Given the description of an element on the screen output the (x, y) to click on. 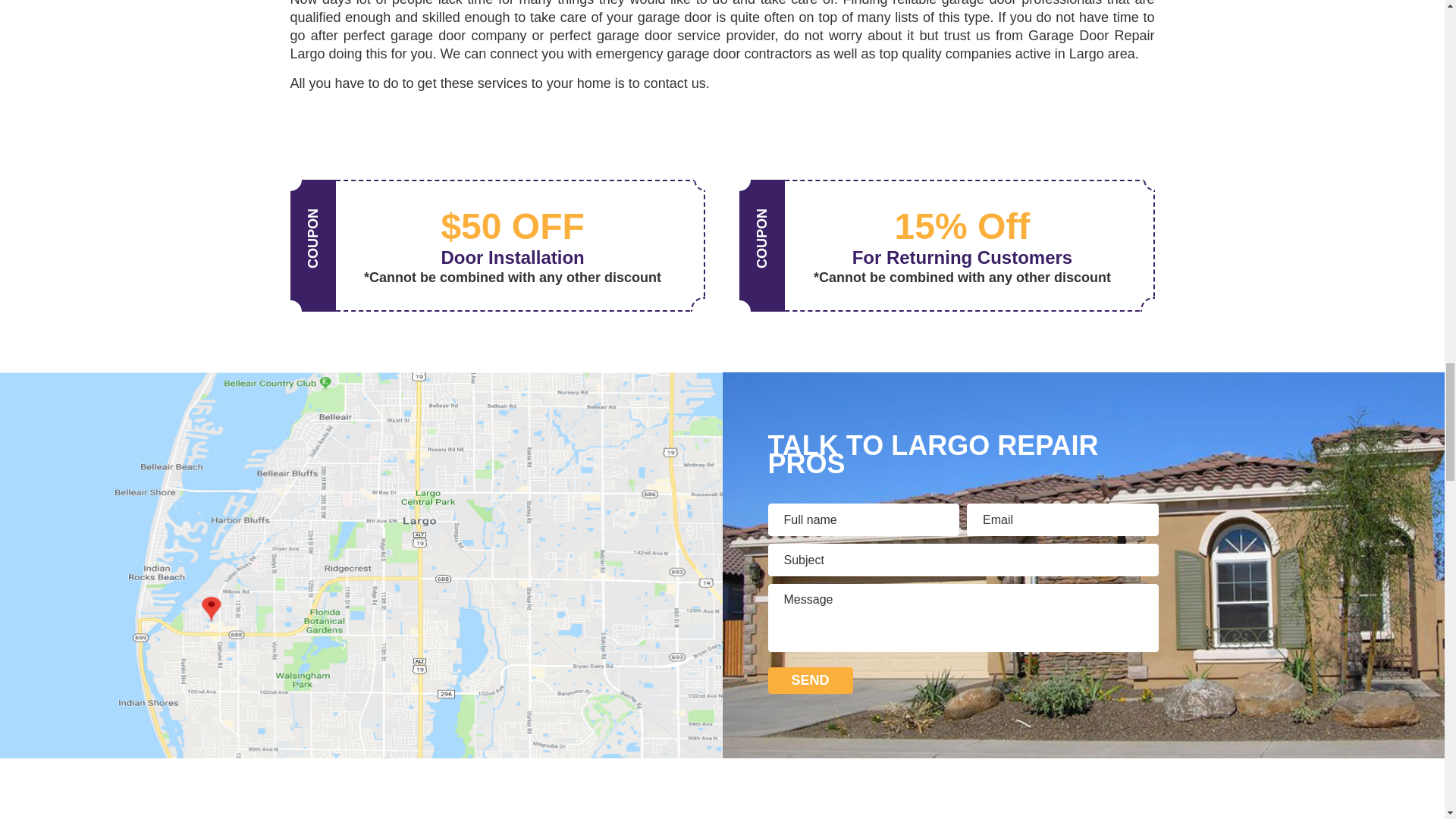
SEND (809, 680)
